Given the description of an element on the screen output the (x, y) to click on. 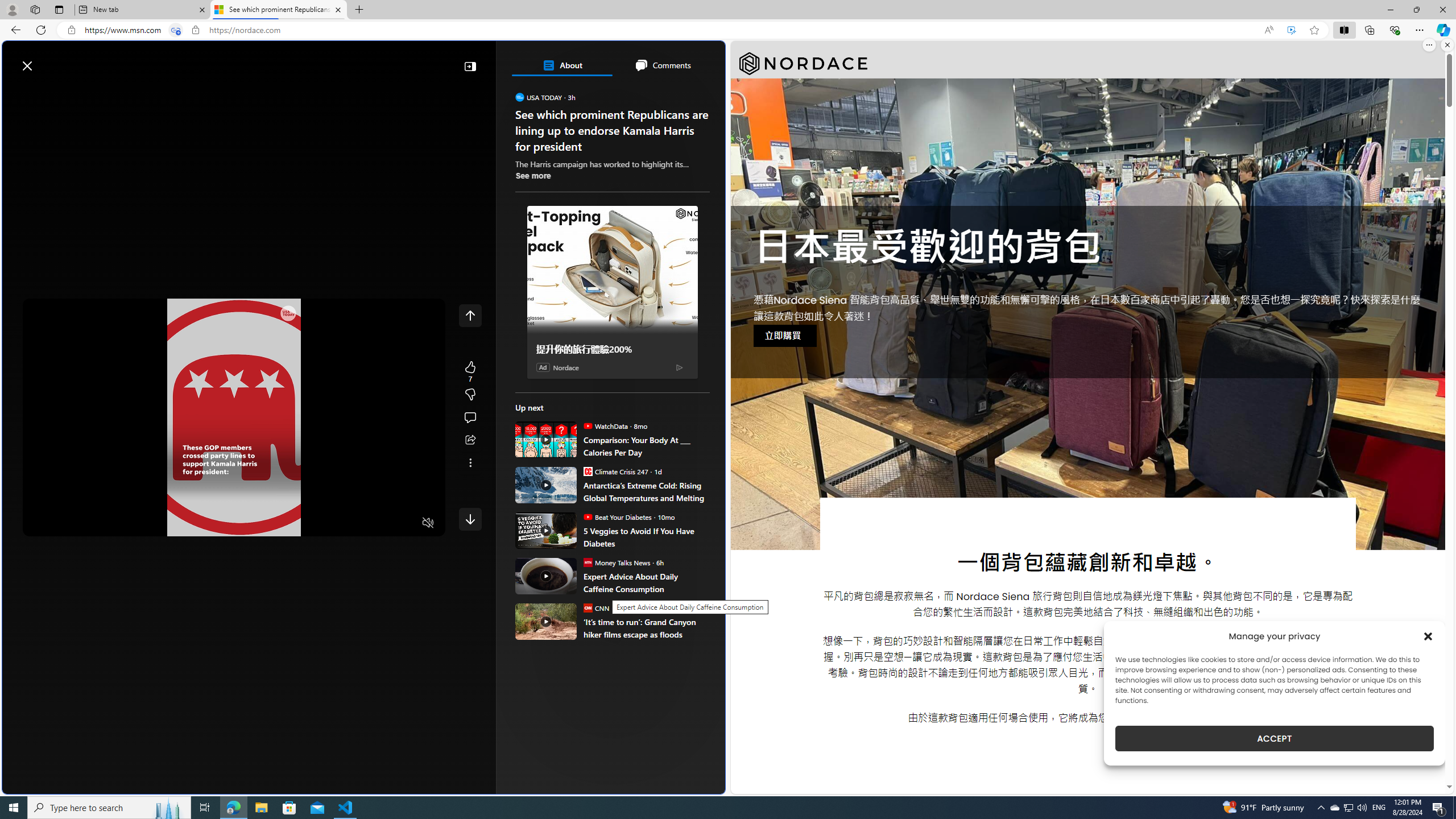
Class: button-glyph (16, 92)
Pause (39, 523)
CNN (587, 607)
